Given the description of an element on the screen output the (x, y) to click on. 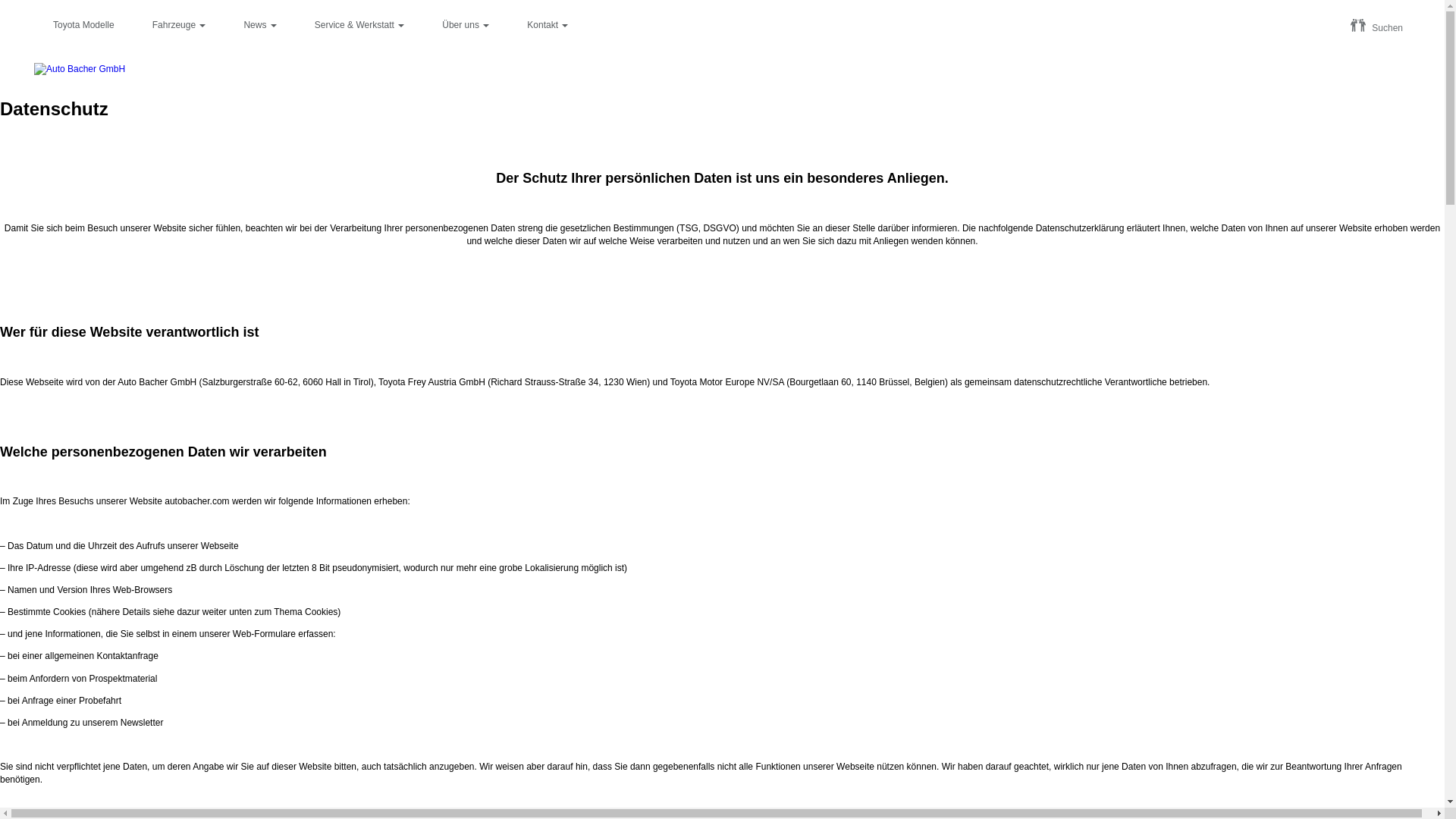
News Element type: text (259, 25)
Kontakt Element type: text (547, 25)
Service & Werkstatt Element type: text (359, 25)
Toyota Modelle Element type: text (83, 25)
Suchen Element type: text (1376, 26)
Fahrzeuge Element type: text (178, 25)
Auto Bacher GmbH Element type: hover (79, 68)
